Given the description of an element on the screen output the (x, y) to click on. 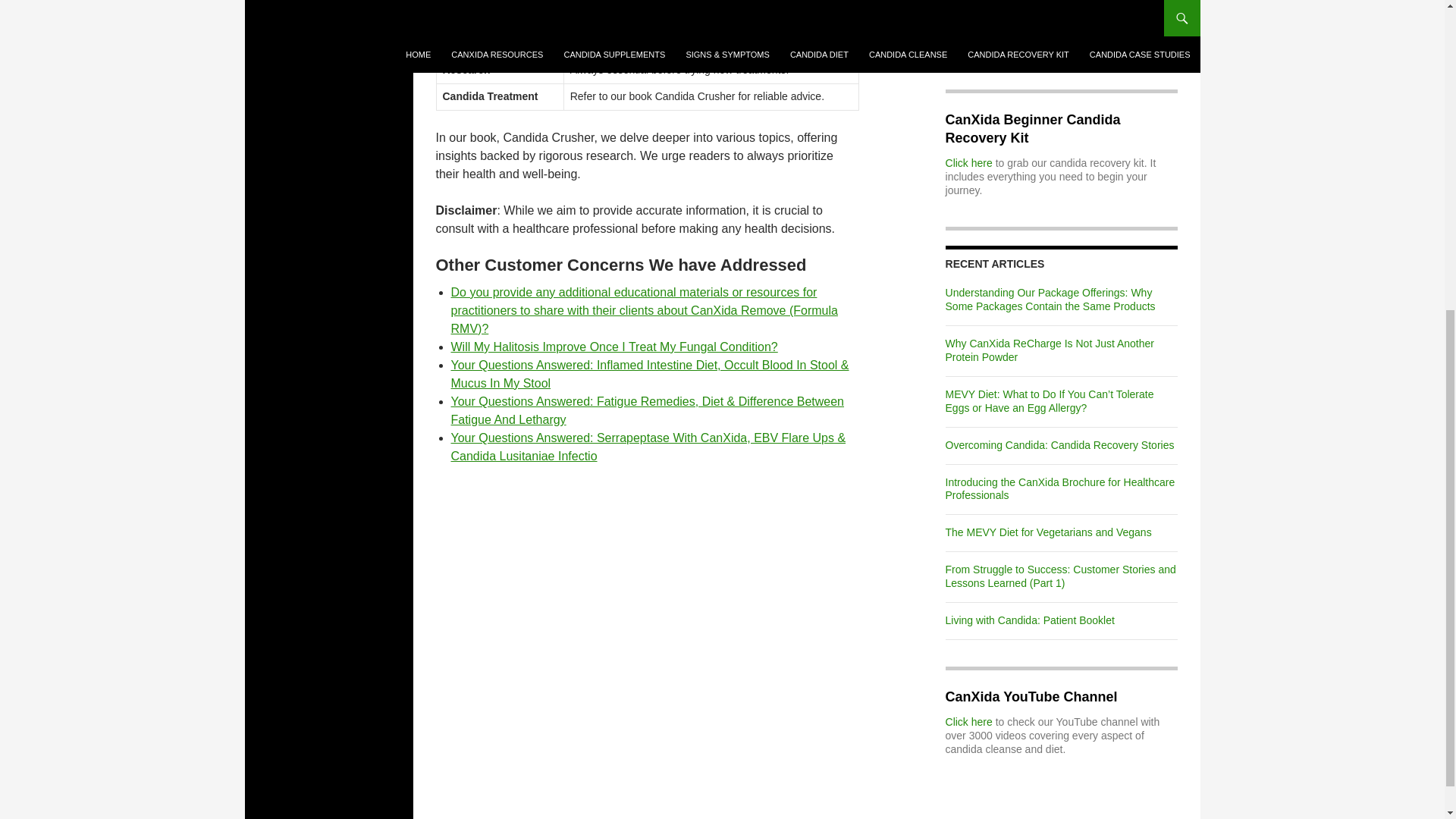
The MEVY Diet for Vegetarians and Vegans (1047, 532)
Living with Candida: Patient Booklet (1029, 620)
Click here (968, 721)
Click here (968, 39)
Click here (968, 162)
Will My Halitosis Improve Once I Treat My Fungal Condition? (613, 346)
Overcoming Candida: Candida Recovery Stories (1059, 444)
Why CanXida ReCharge Is Not Just Another Protein Powder (1049, 350)
